Given the description of an element on the screen output the (x, y) to click on. 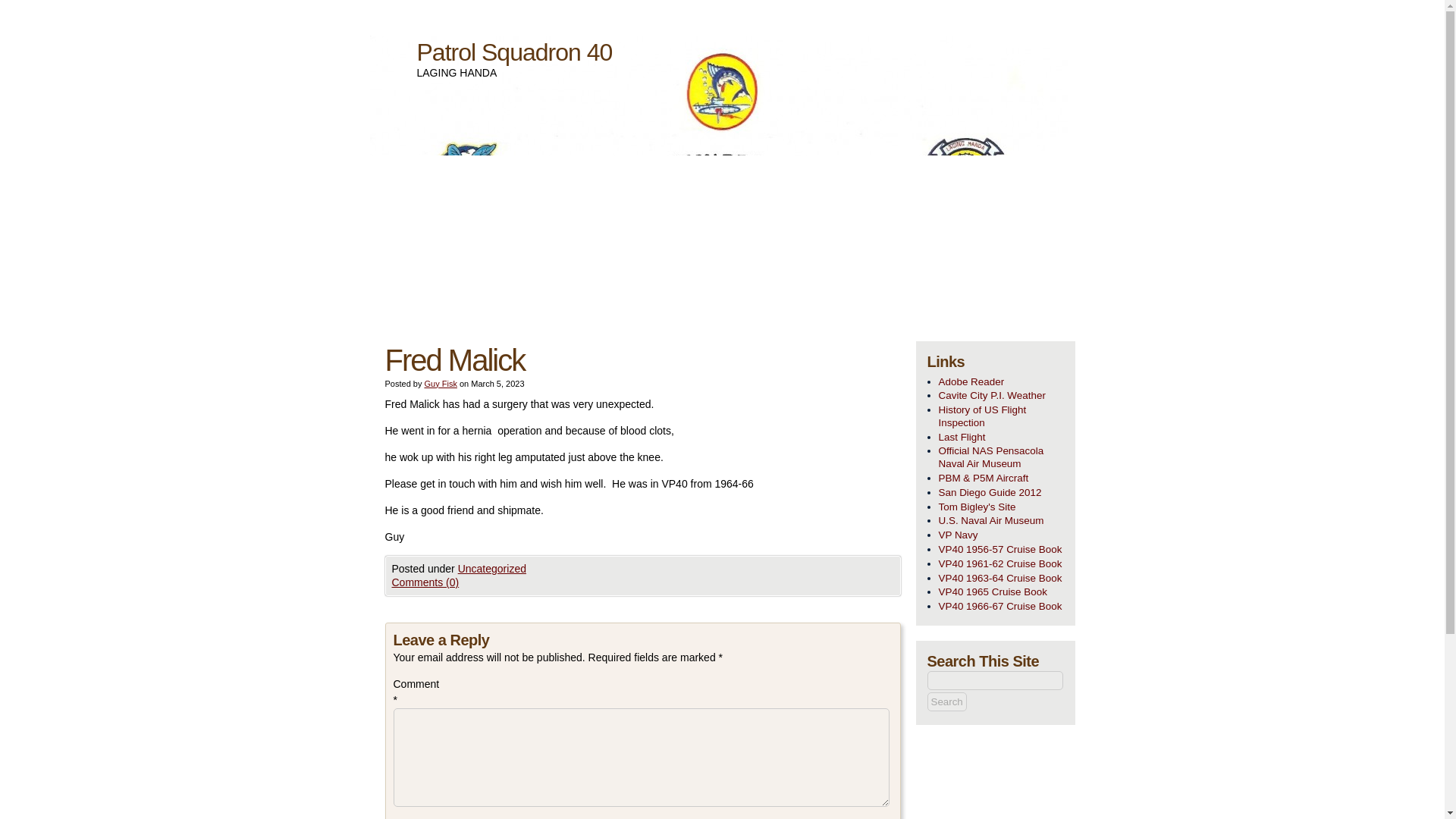
Search (946, 701)
Guy Fisk (440, 383)
VP40 1966-67 Cruise Book (1001, 606)
Patrol Squadron 40 (514, 51)
Posts by Guy Fisk (440, 383)
VP40 1963-64 Cruise Book (1001, 578)
San Diego Guide 2012 (1001, 493)
NAS Museum, Pensacola FL (1001, 457)
U.S. Naval Air Museum (1001, 521)
Cavite City Weather  (1001, 396)
